Given the description of an element on the screen output the (x, y) to click on. 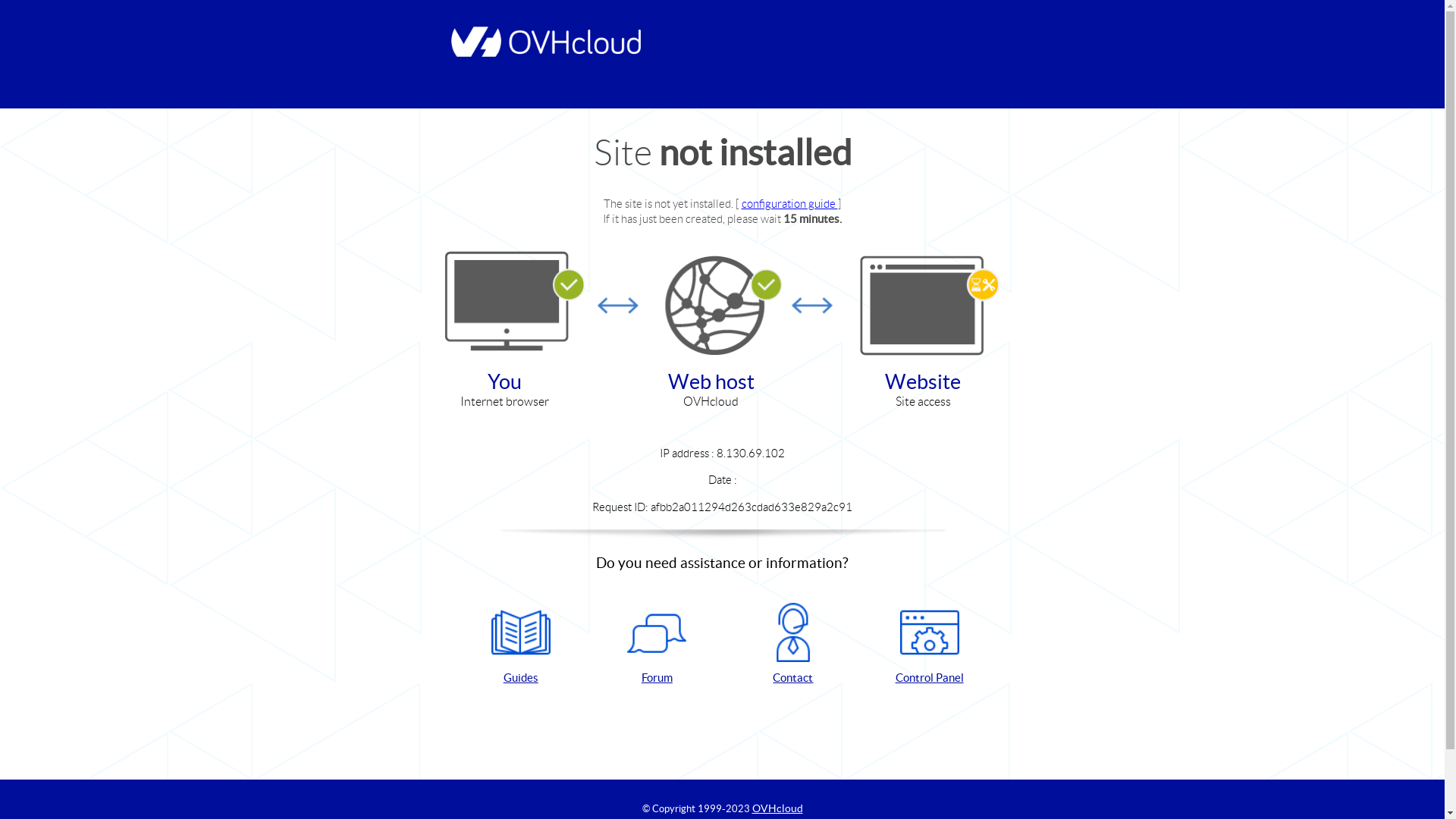
configuration guide Element type: text (789, 203)
Contact Element type: text (792, 644)
Guides Element type: text (520, 644)
OVHcloud Element type: text (777, 808)
Forum Element type: text (656, 644)
Control Panel Element type: text (929, 644)
